Given the description of an element on the screen output the (x, y) to click on. 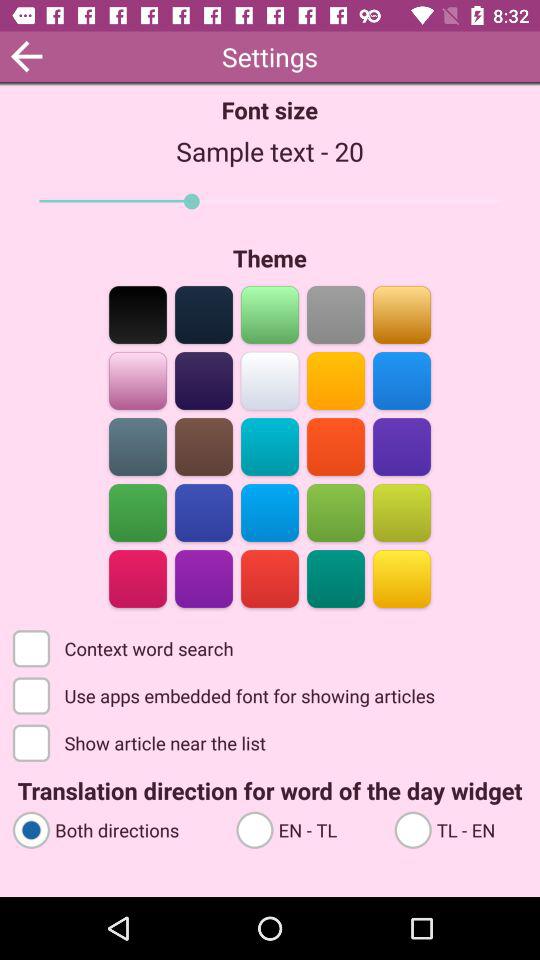
select item below translation direction for icon (115, 828)
